Given the description of an element on the screen output the (x, y) to click on. 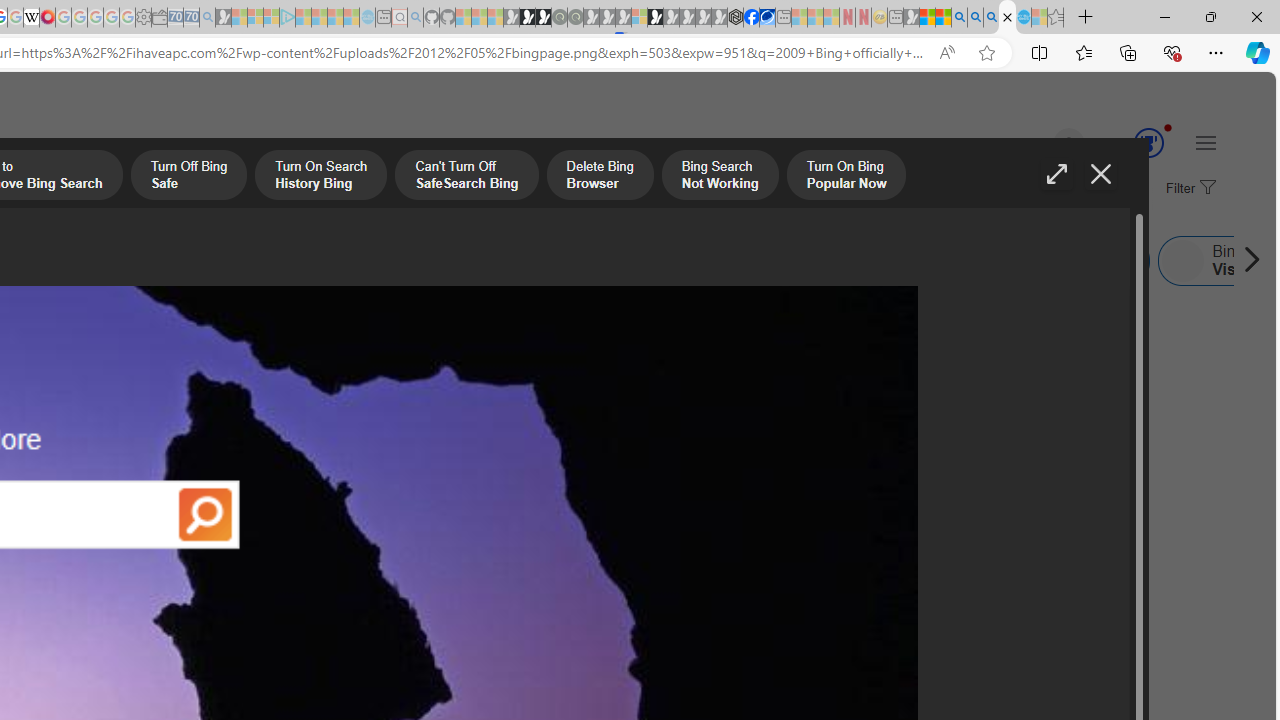
Bing Logo, symbol, meaning, history, PNG, brand (695, 508)
Bing Real Estate - Home sales and rental listings - Sleeping (207, 17)
Target page - Wikipedia (31, 17)
Turn On Search History Bing (319, 177)
MSN Homepage Bing Search Engine (151, 260)
Nordace - Cooler Bags (735, 17)
Microsoft account | Privacy - Sleeping (271, 17)
Eugene (1041, 143)
Animation (1167, 127)
